Given the description of an element on the screen output the (x, y) to click on. 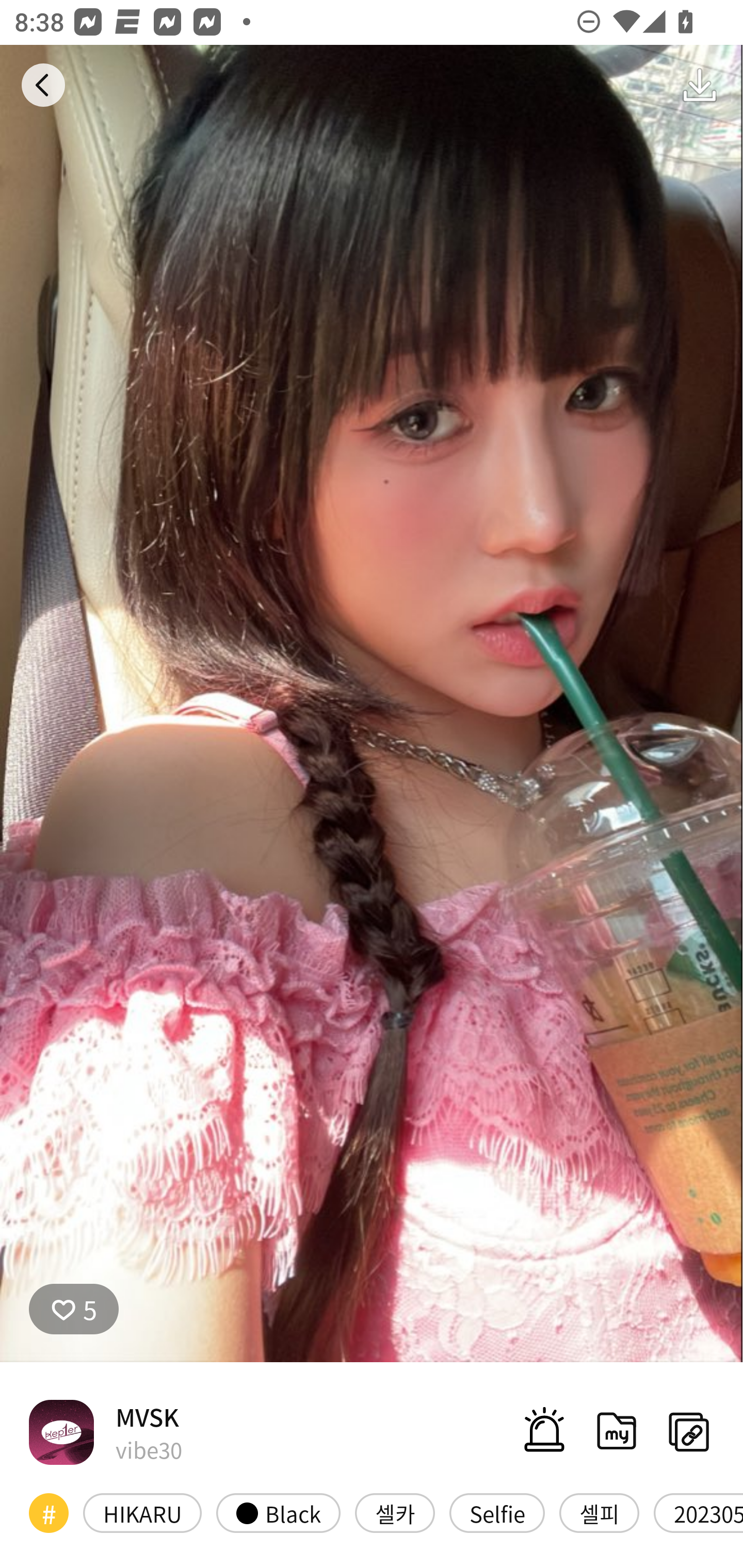
5 (73, 1308)
MVSK vibe30 (105, 1431)
HIKARU (142, 1512)
Black (278, 1512)
셀카 (394, 1512)
Selfie (496, 1512)
셀피 (598, 1512)
20230527 (698, 1512)
